Given the description of an element on the screen output the (x, y) to click on. 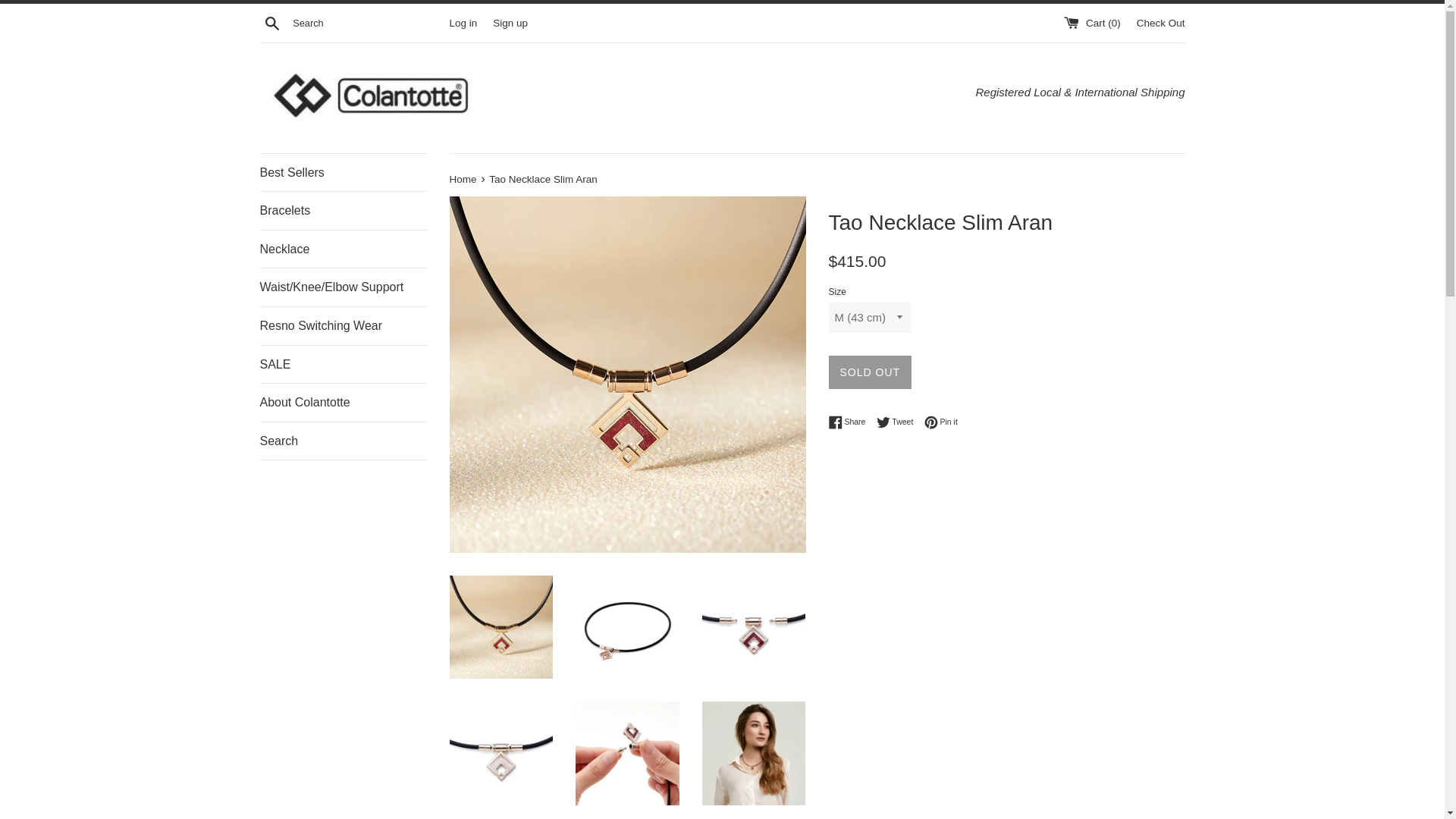
Bracelets (342, 210)
Tweet on Twitter (898, 422)
Search (342, 441)
Sign up (510, 21)
Best Sellers (342, 172)
About Colantotte (342, 402)
Check Out (941, 422)
Necklace (1161, 21)
Home (342, 249)
Pin on Pinterest (463, 179)
Share on Facebook (941, 422)
Resno Switching Wear (850, 422)
